Given the description of an element on the screen output the (x, y) to click on. 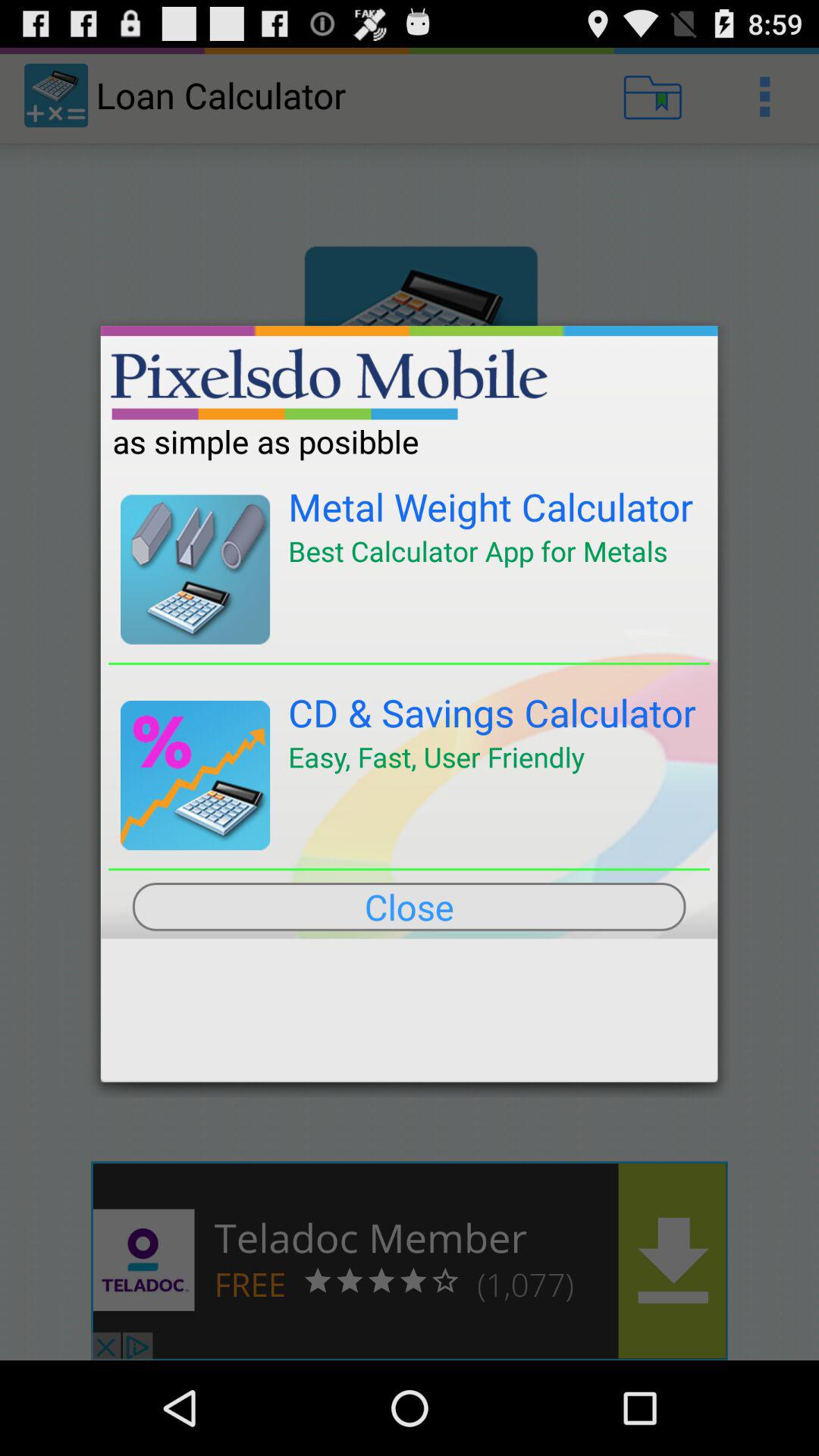
turn on the close (408, 906)
